Given the description of an element on the screen output the (x, y) to click on. 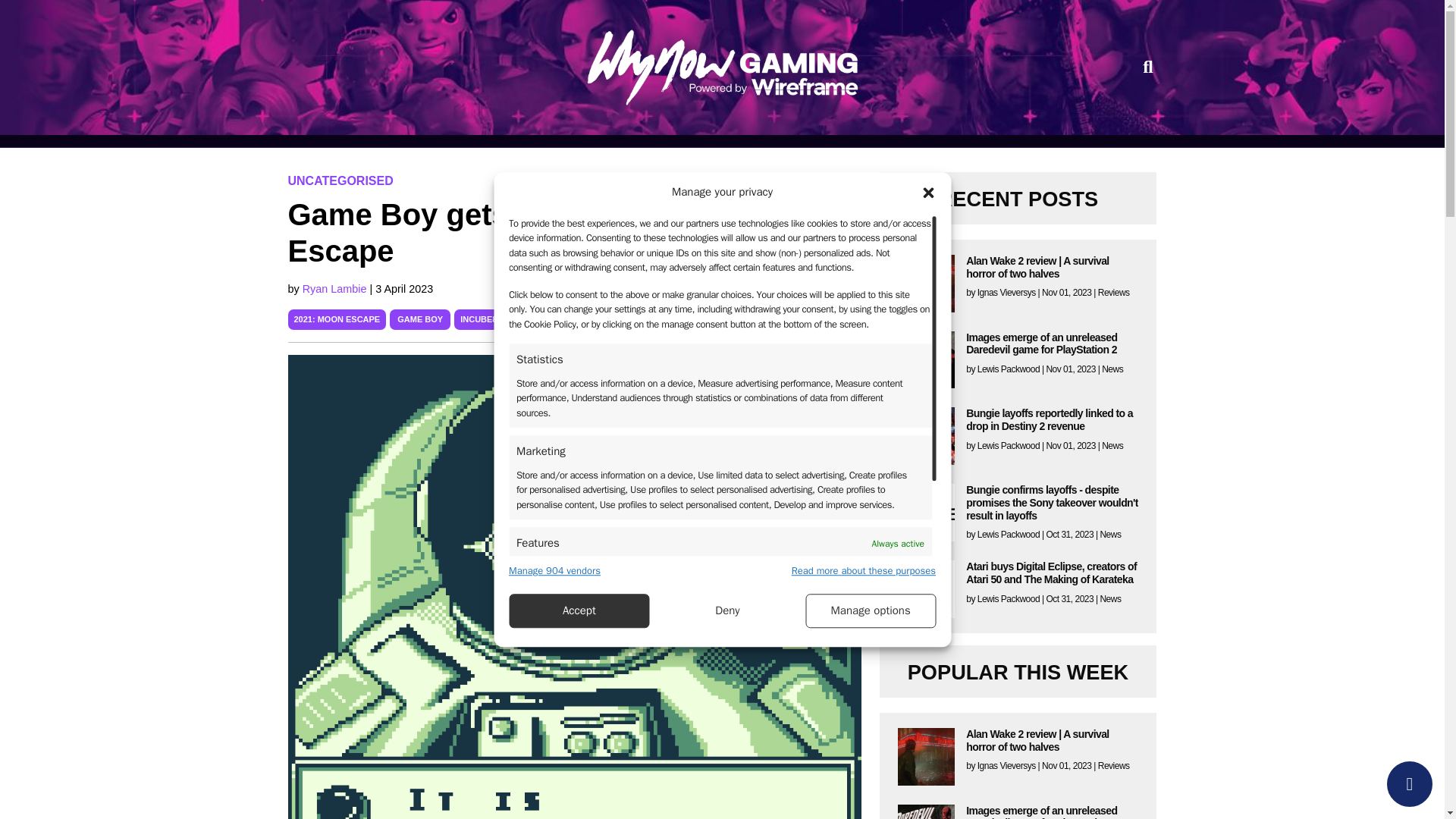
incube8 Games (494, 318)
GAME BOY (419, 318)
2021: Moon Escape (337, 318)
Game Boy (419, 318)
2021: MOON ESCAPE (337, 318)
UNCATEGORISED (340, 180)
INCUBE8 GAMES (494, 318)
Reviews (1113, 292)
Ignas Vieversys (1005, 292)
Ryan Lambie (335, 288)
